Given the description of an element on the screen output the (x, y) to click on. 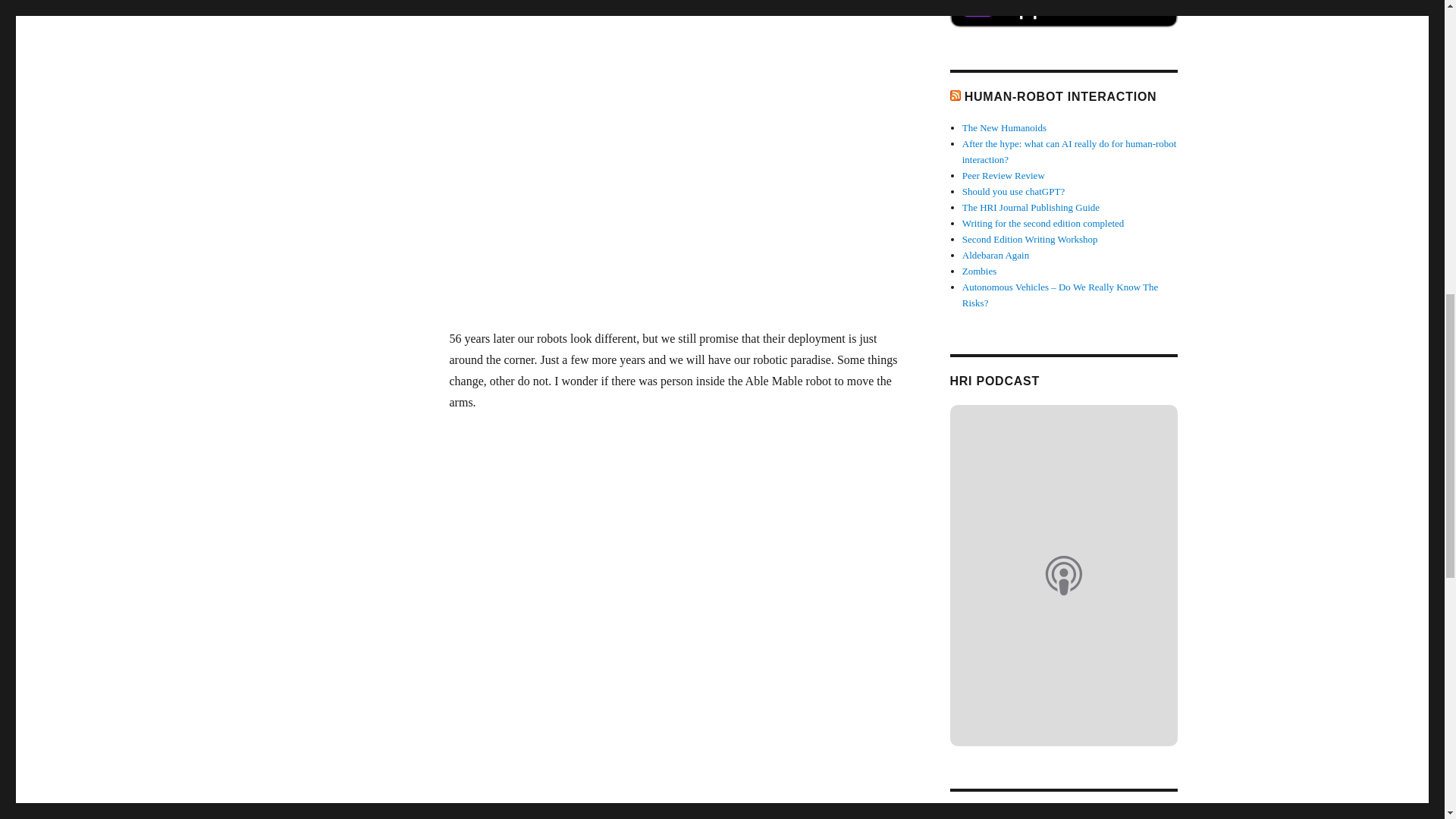
Second Edition Writing Workshop (1029, 238)
HUMAN-ROBOT INTERACTION (1060, 96)
Writing for the second edition completed (1043, 223)
Peer Review Review (1003, 174)
Should you use chatGPT? (1013, 191)
The New Humanoids (1004, 127)
The HRI Journal Publishing Guide (1030, 206)
